Given the description of an element on the screen output the (x, y) to click on. 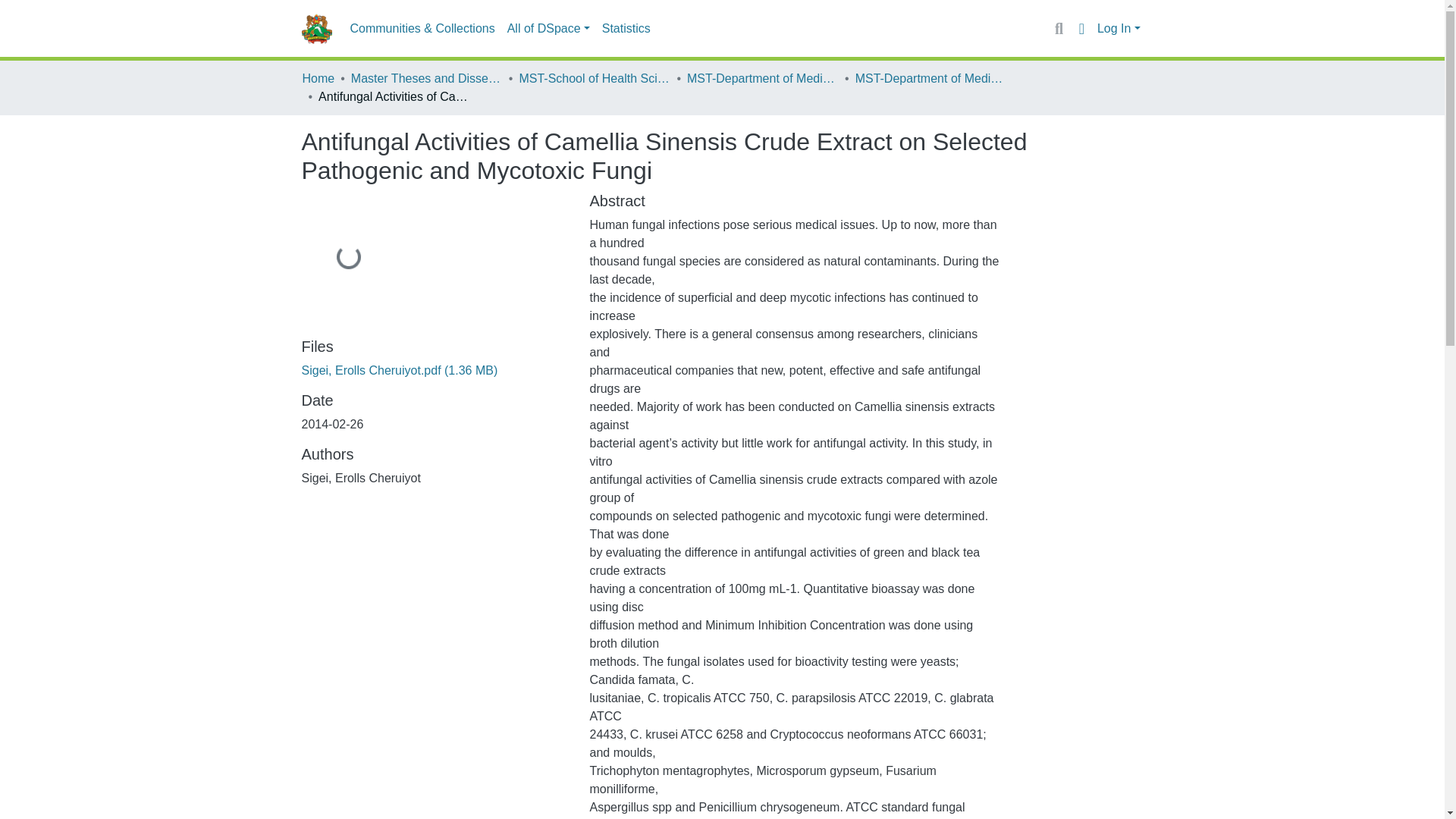
Statistics (625, 28)
All of DSpace (547, 28)
MST-School of Health Sciences (593, 78)
MST-Department of Medical Laboratory Sciences (762, 78)
Language switch (1081, 28)
Home (317, 78)
MST-Department of Medical Laboratory Sciences (931, 78)
Log In (1118, 28)
Search (1058, 28)
Statistics (625, 28)
